Given the description of an element on the screen output the (x, y) to click on. 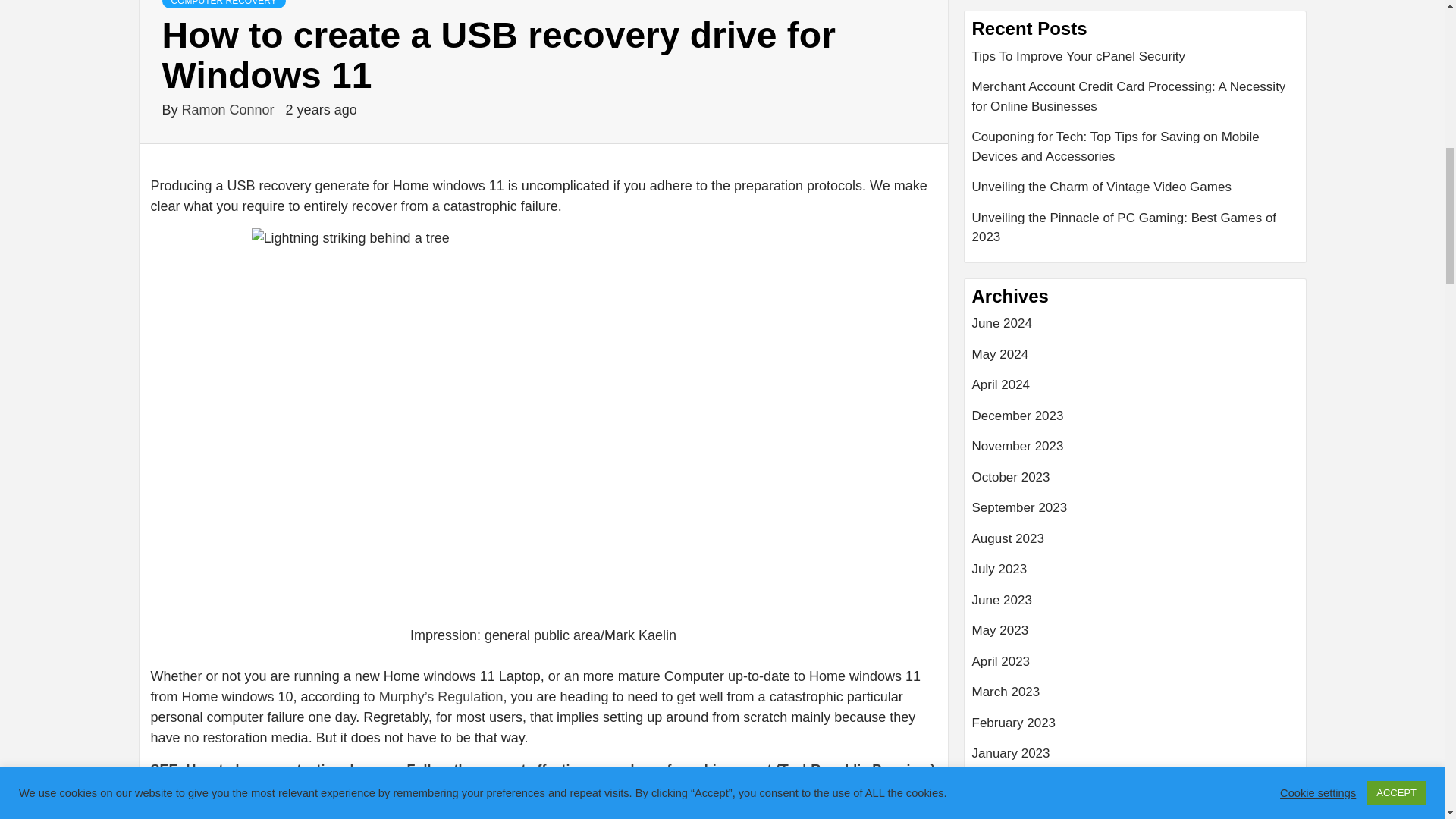
COMPUTER RECOVERY (223, 4)
December 2023 (1135, 421)
Ramon Connor (230, 109)
April 2024 (1135, 390)
June 2024 (1135, 328)
Unveiling the Pinnacle of PC Gaming: Best Games of 2023 (1135, 227)
Tips To Improve Your cPanel Security (1135, 61)
October 2023 (1135, 482)
